Given the description of an element on the screen output the (x, y) to click on. 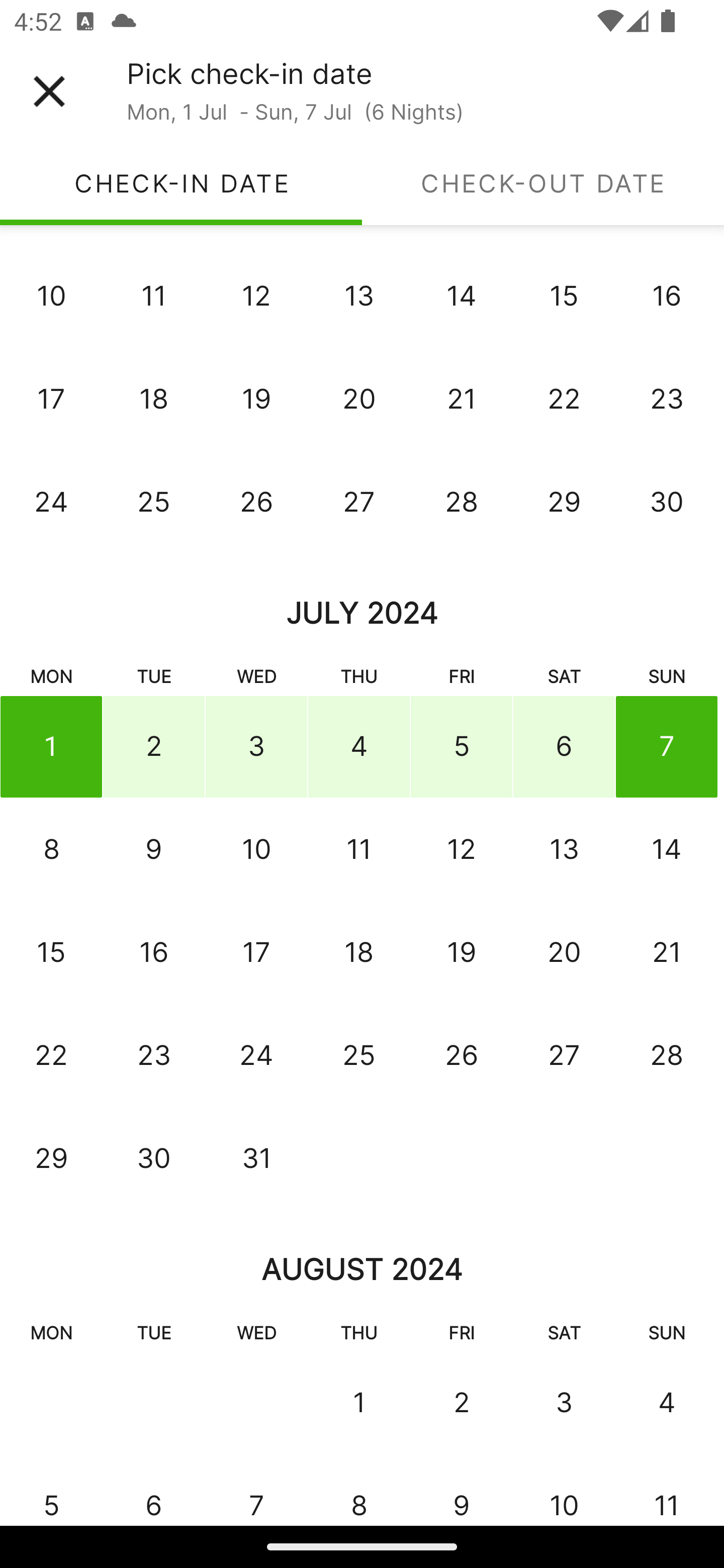
Check-out Date CHECK-OUT DATE (543, 183)
